Given the description of an element on the screen output the (x, y) to click on. 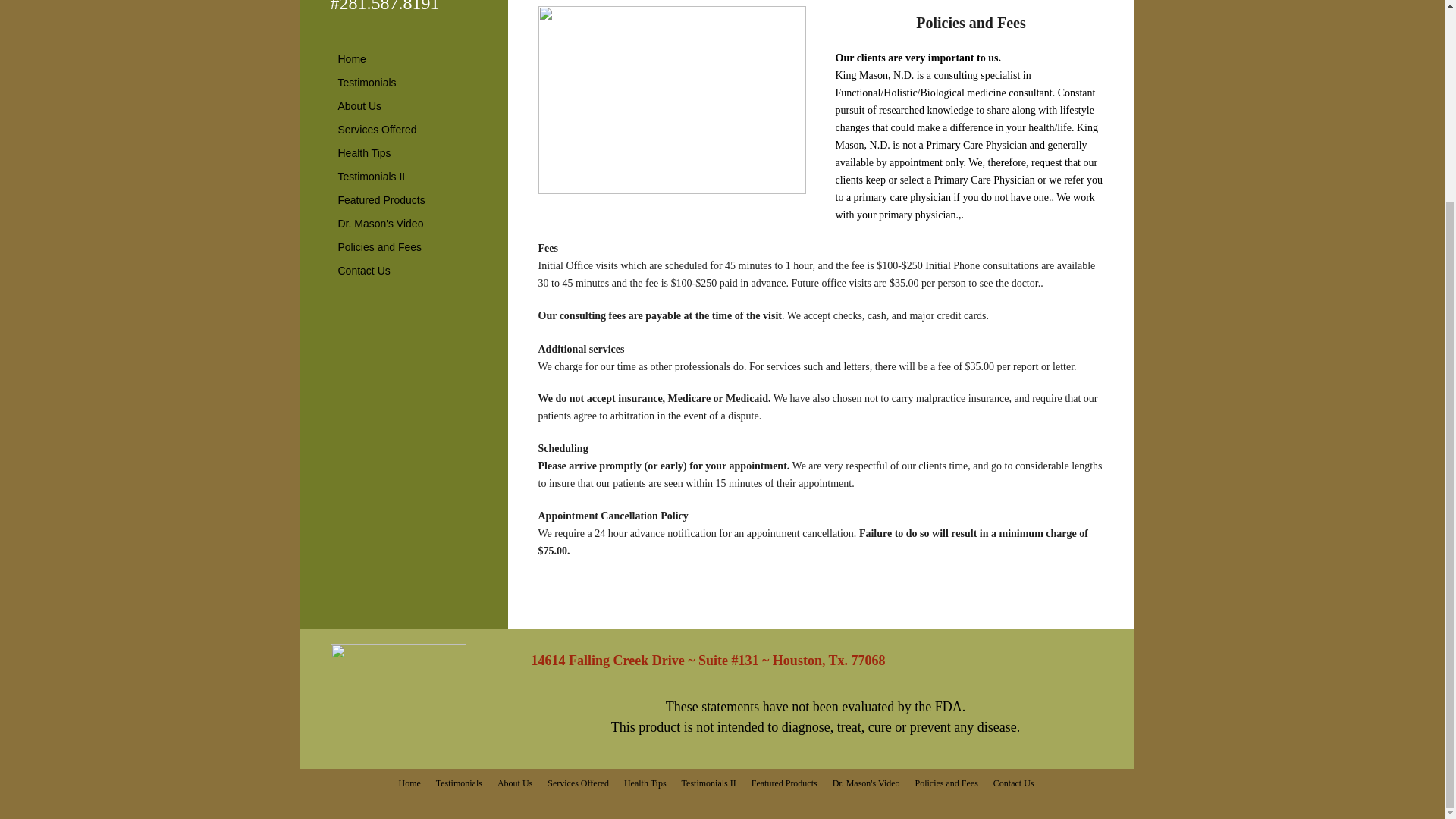
Policies and Fees (946, 783)
Testimonials II (371, 176)
Dr. Mason's Video (380, 223)
Contact Us (363, 270)
About Us (360, 106)
Featured Products (381, 199)
Dr. Mason's Video (866, 783)
Home (409, 783)
About Us (514, 783)
Health Tips (364, 152)
Services Offered (577, 783)
Home (352, 58)
Featured Products (784, 783)
Policies and Fees (379, 246)
Contact Us (1013, 783)
